Given the description of an element on the screen output the (x, y) to click on. 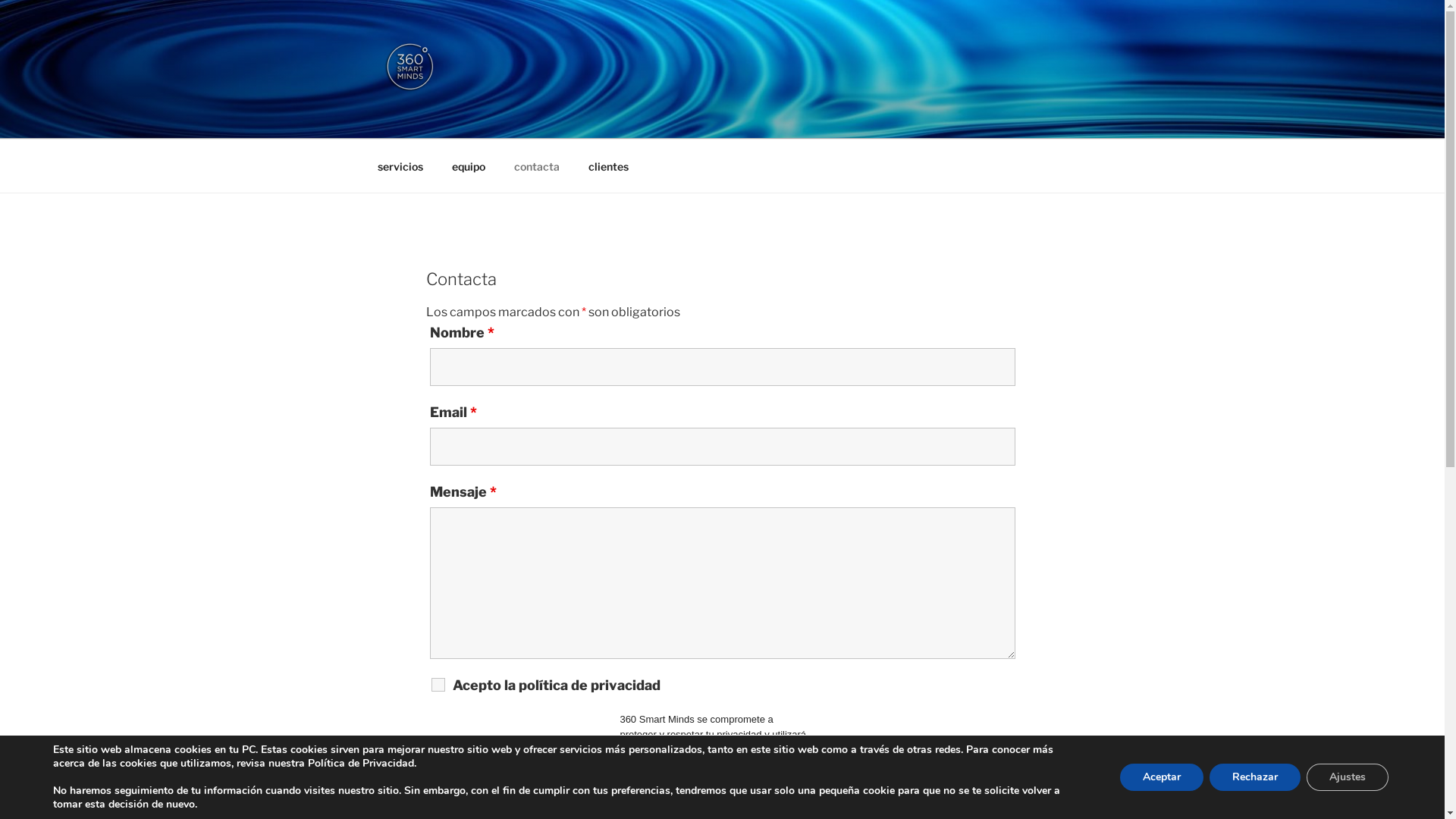
equipo Element type: text (468, 165)
Ajustes Element type: text (1347, 776)
Rechazar Element type: text (1254, 776)
360SMARTMINDS Element type: text (521, 118)
clientes Element type: text (607, 165)
contacta Element type: text (536, 165)
Aceptar Element type: text (1161, 776)
servicios Element type: text (400, 165)
